Given the description of an element on the screen output the (x, y) to click on. 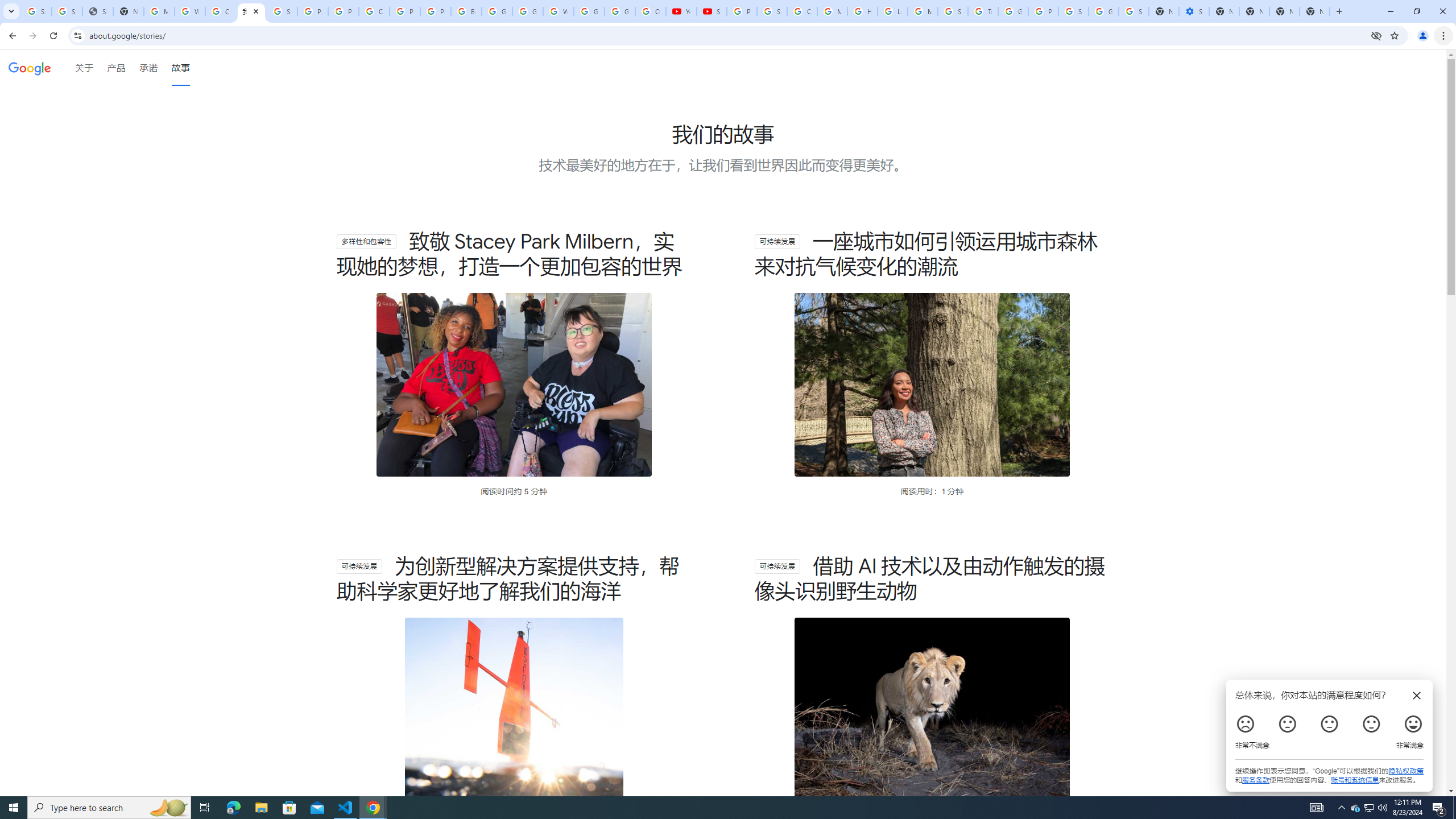
Google (29, 68)
Settings - Performance (1193, 11)
Trusted Information and Content - Google Safety Center (982, 11)
Search our Doodle Library Collection - Google Doodles (952, 11)
Google Cybersecurity Innovations - Google Safety Center (1103, 11)
Sign in - Google Accounts (771, 11)
